Given the description of an element on the screen output the (x, y) to click on. 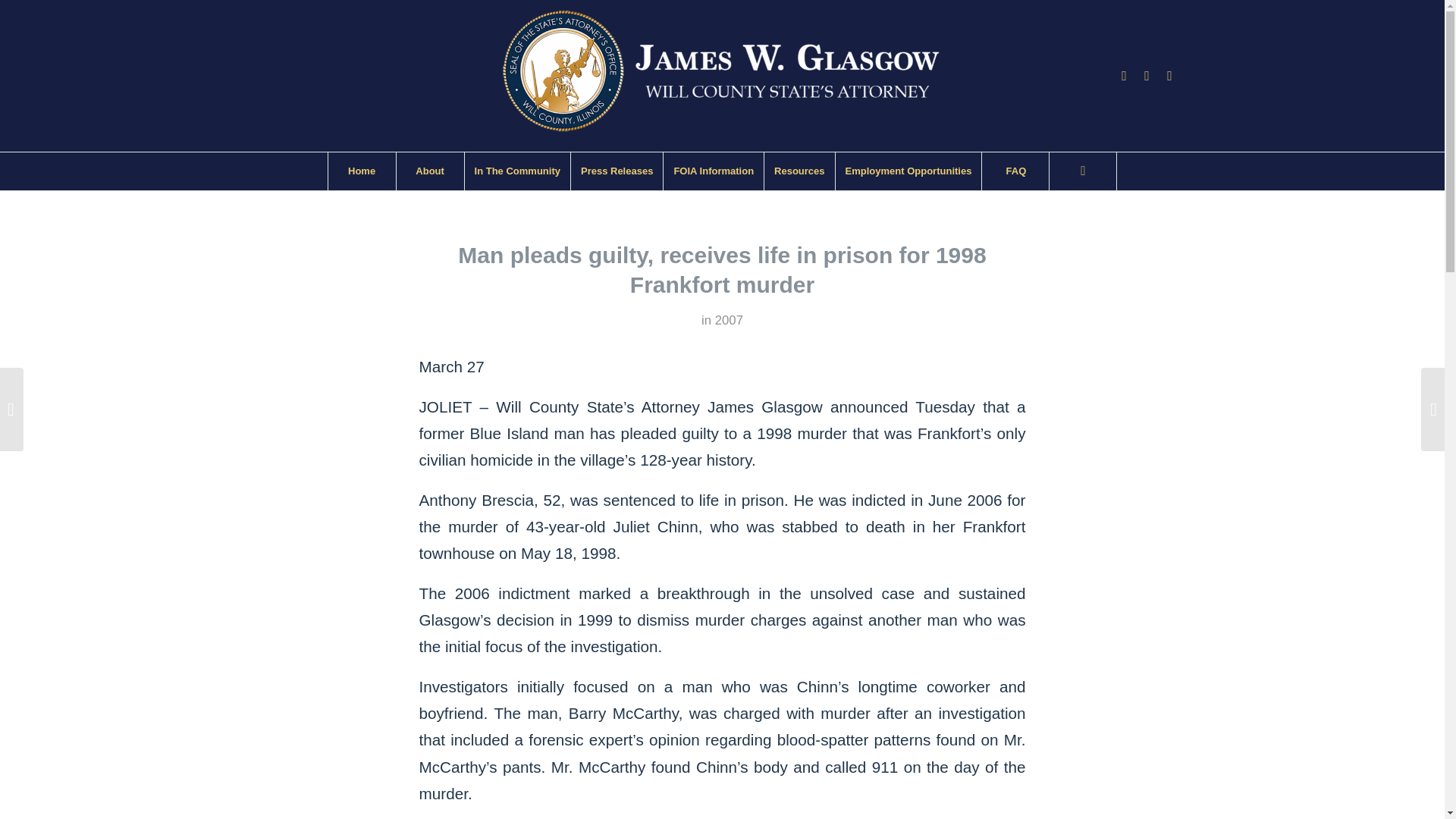
Home (361, 171)
Facebook (1124, 75)
X (1169, 75)
About (430, 171)
Instagram (1146, 75)
In The Community (517, 171)
